Given the description of an element on the screen output the (x, y) to click on. 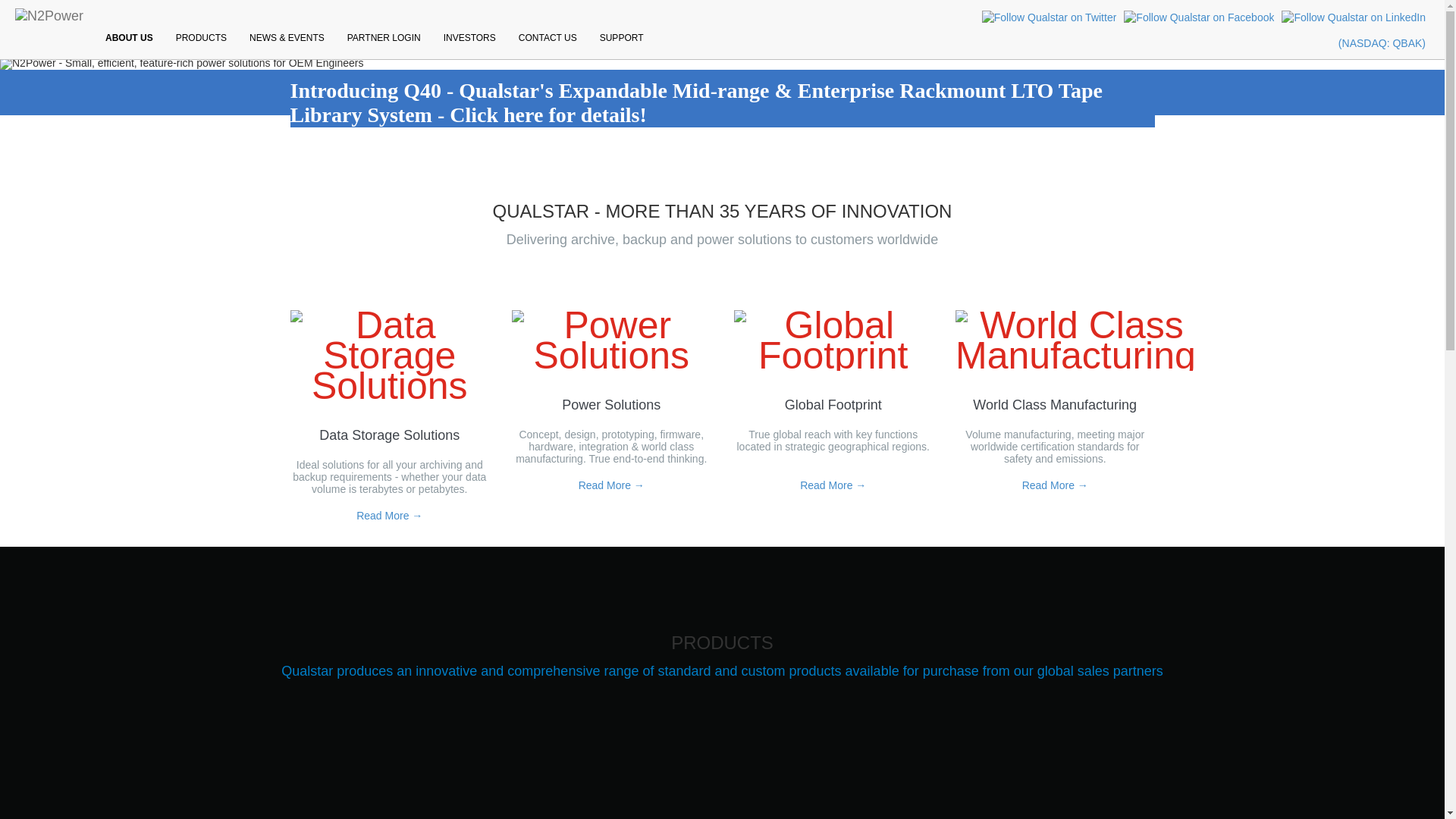
Power Solutions (611, 404)
PARTNER LOGIN (384, 39)
Global Footprint (833, 404)
CONTACT US (547, 39)
PRODUCTS (201, 39)
ABOUT US (129, 39)
INVESTORS (469, 39)
Data Storage Solutions (389, 435)
SUPPORT (621, 39)
World Class Manufacturing (1054, 404)
